Given the description of an element on the screen output the (x, y) to click on. 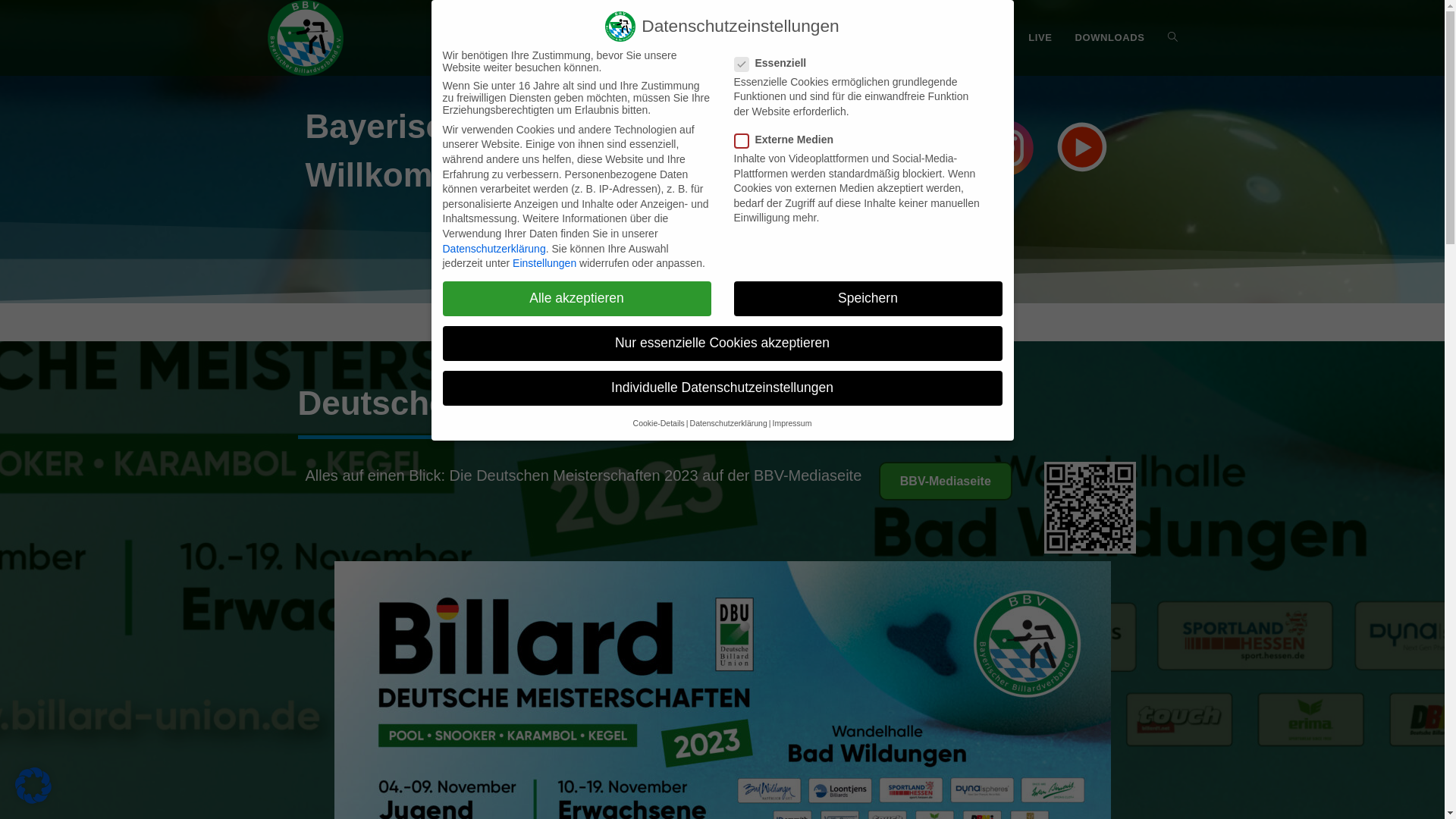
NULIGA Element type: text (915, 37)
SPORTENTWICKLUNG Element type: text (815, 37)
Individuelle Datenschutzeinstellungen Element type: text (722, 387)
Impressum Element type: text (791, 422)
BBV-Mediaseite Element type: text (945, 480)
Speichern Element type: text (868, 298)
START Element type: text (457, 37)
BBV NEWS Element type: text (525, 37)
LIVE Element type: text (1039, 37)
DOWNLOADS Element type: text (1109, 37)
Nur essenzielle Cookies akzeptieren Element type: text (722, 343)
VERBAND Element type: text (602, 37)
GALERIE Element type: text (981, 37)
Cookie-Details Element type: text (658, 422)
SPORTBETRIEB Element type: text (693, 37)
Einstellungen Element type: text (544, 263)
Alle akzeptieren Element type: text (576, 298)
